Given the description of an element on the screen output the (x, y) to click on. 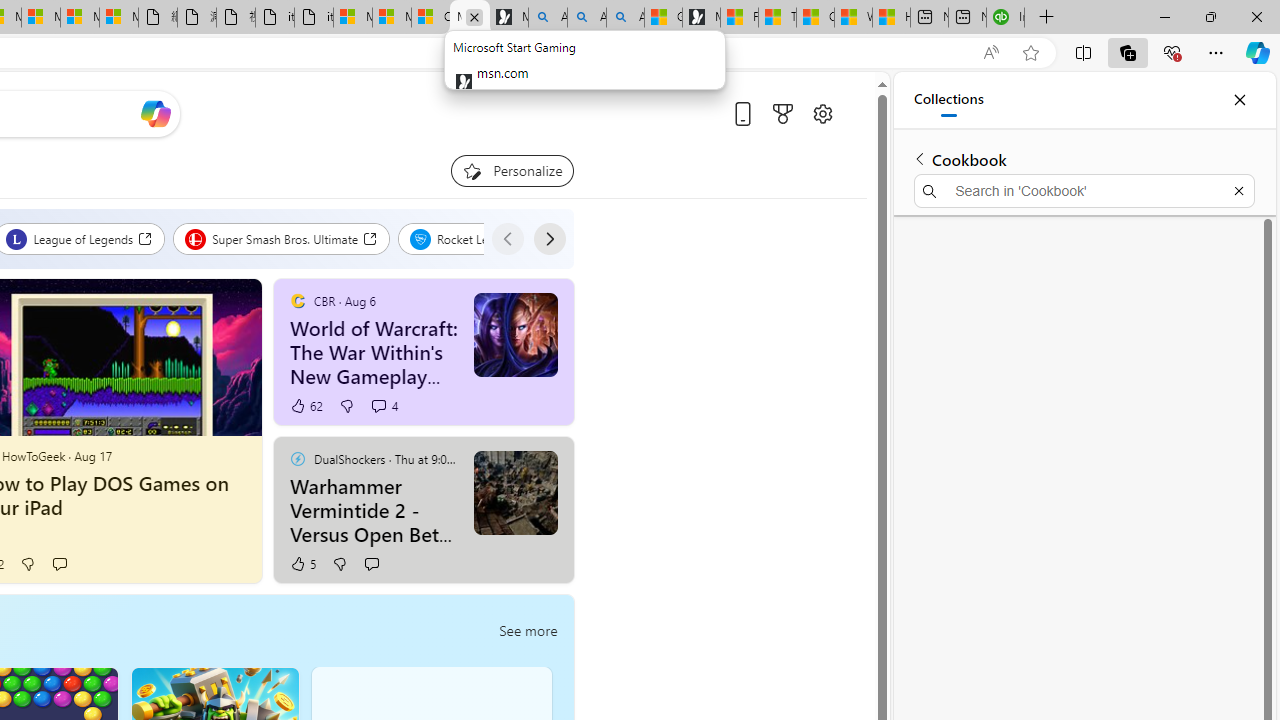
Consumer Health Data Privacy Policy (431, 17)
Hide this story (512, 460)
CBR (297, 300)
